Given the description of an element on the screen output the (x, y) to click on. 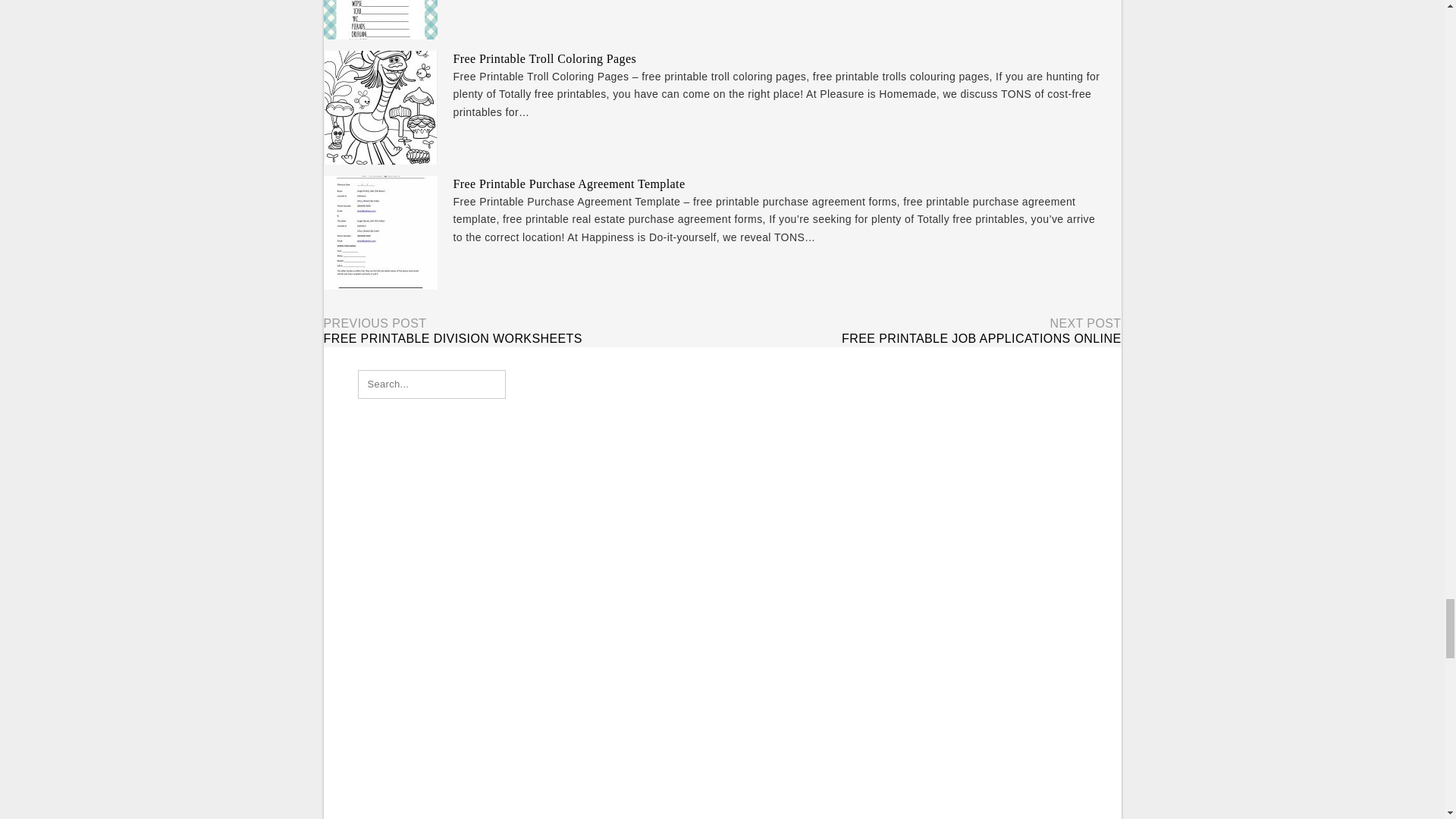
Free Printable Troll Coloring Pages (544, 58)
Free Printable Troll Coloring Pages (544, 58)
FREE PRINTABLE JOB APPLICATIONS ONLINE (981, 338)
FREE PRINTABLE DIVISION WORKSHEETS (451, 338)
Free Printable Purchase Agreement Template (568, 183)
